Given the description of an element on the screen output the (x, y) to click on. 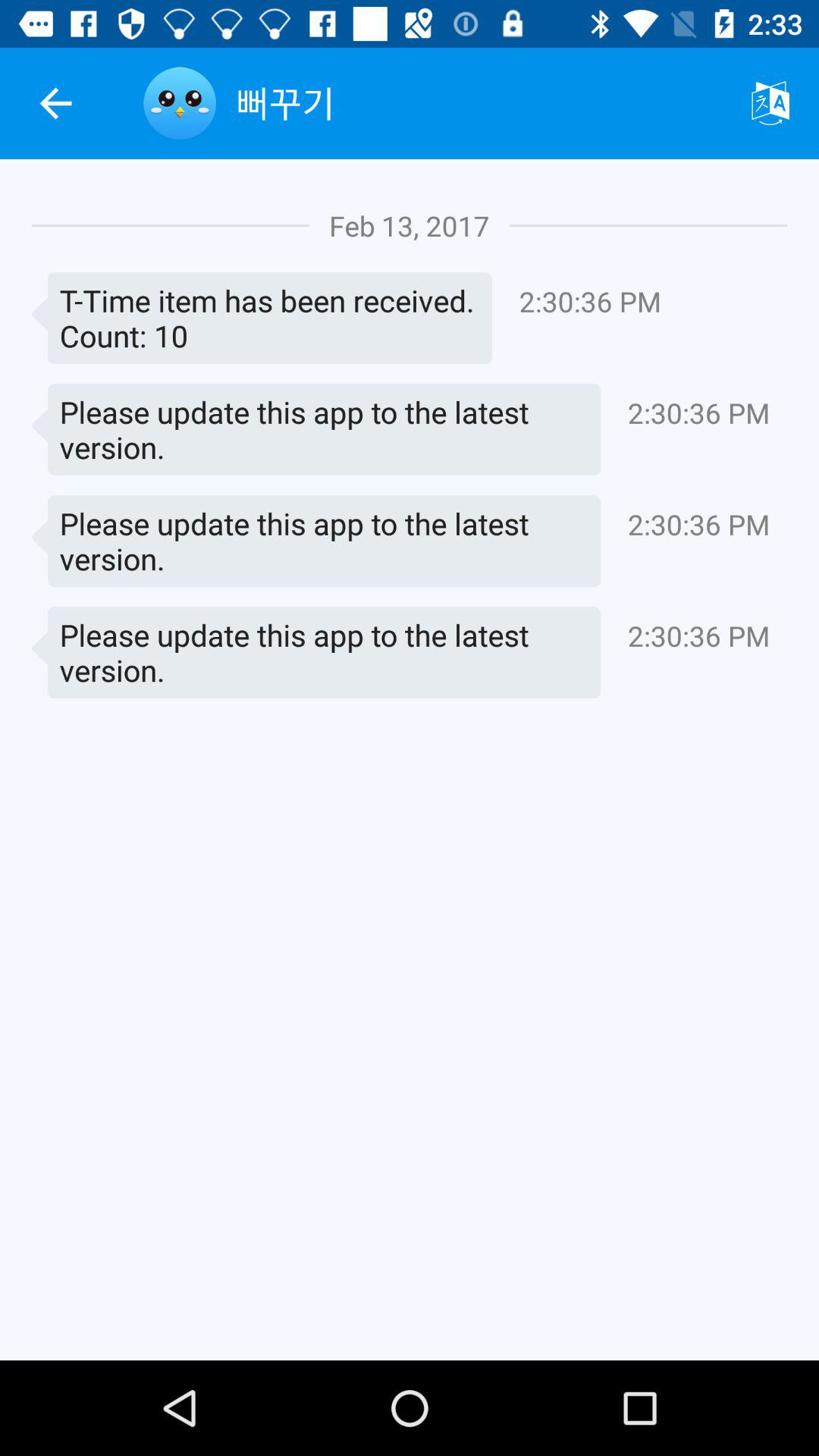
turn off icon next to the 2 30 36 item (261, 318)
